Given the description of an element on the screen output the (x, y) to click on. 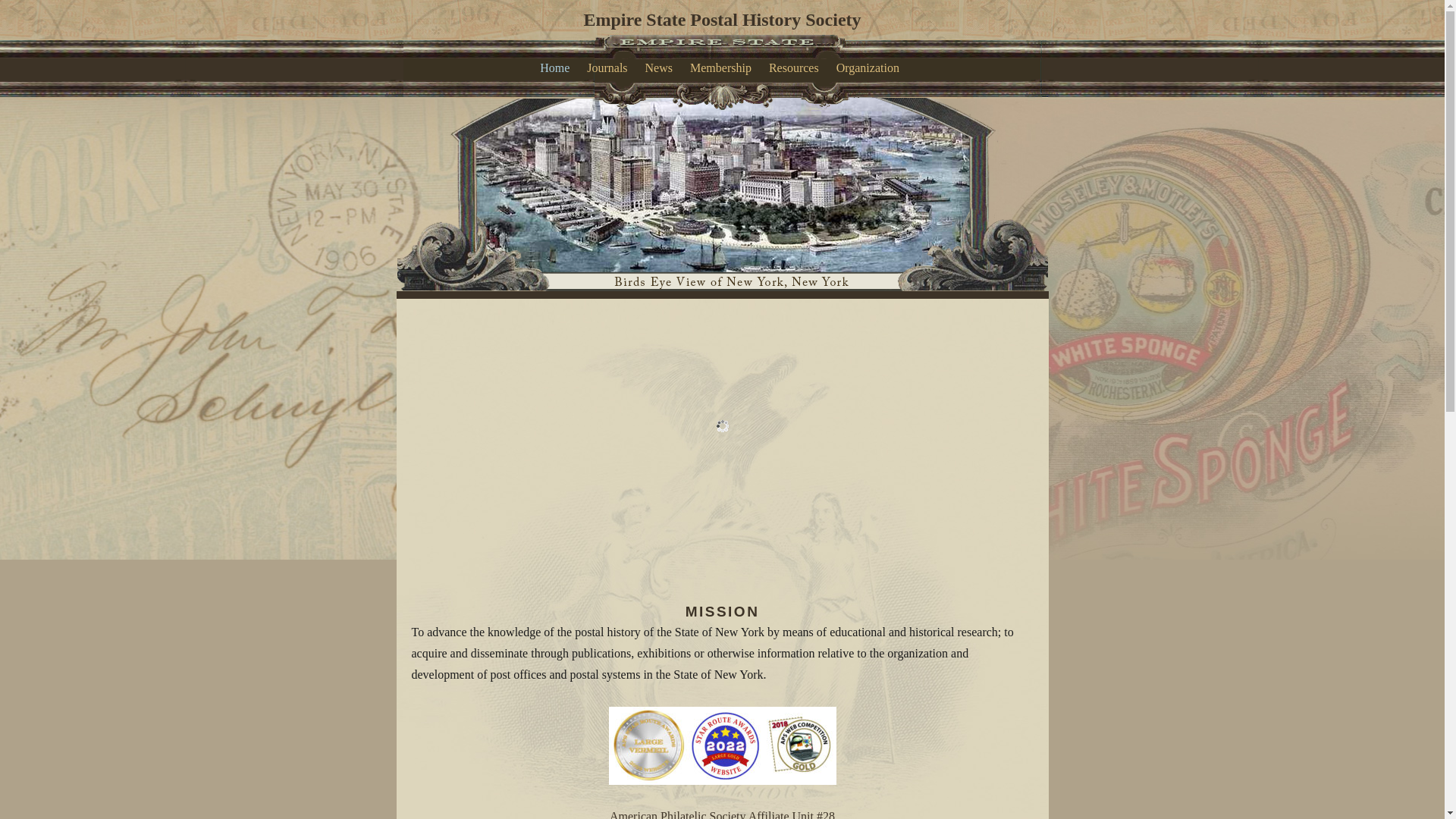
Home (557, 67)
Journals (609, 67)
Organization (870, 67)
Membership (723, 67)
Resources (795, 67)
News (661, 67)
